Given the description of an element on the screen output the (x, y) to click on. 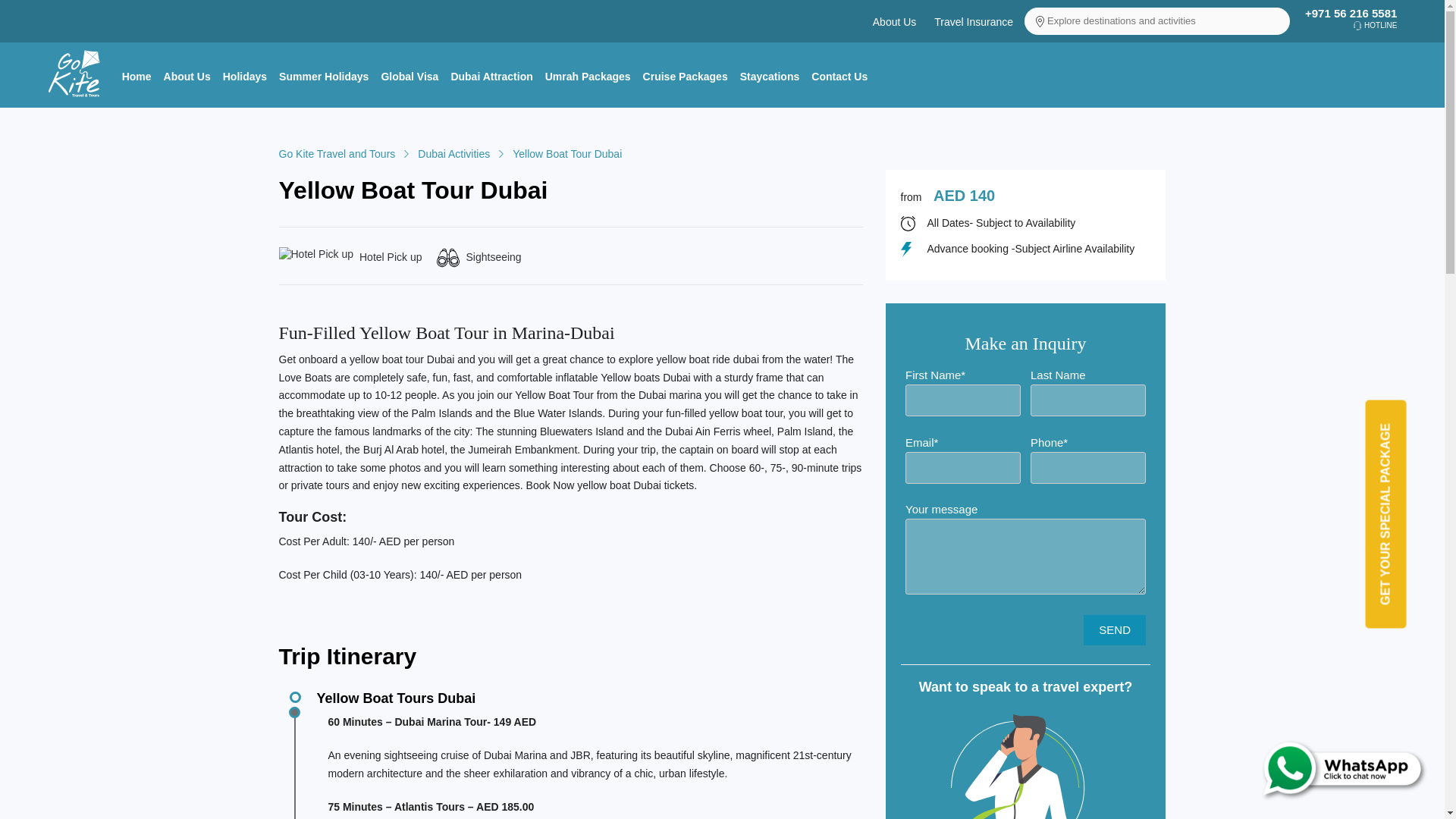
Dubai Activities (453, 153)
Travel Insurance (973, 21)
Contact Us (839, 76)
Dubai Attraction (491, 76)
About Us (894, 21)
Staycations (769, 76)
Go to Dubai Activities. (453, 153)
Cruise Packages (685, 76)
Go Kite Travel and Tours (337, 153)
Send (1114, 630)
